Given the description of an element on the screen output the (x, y) to click on. 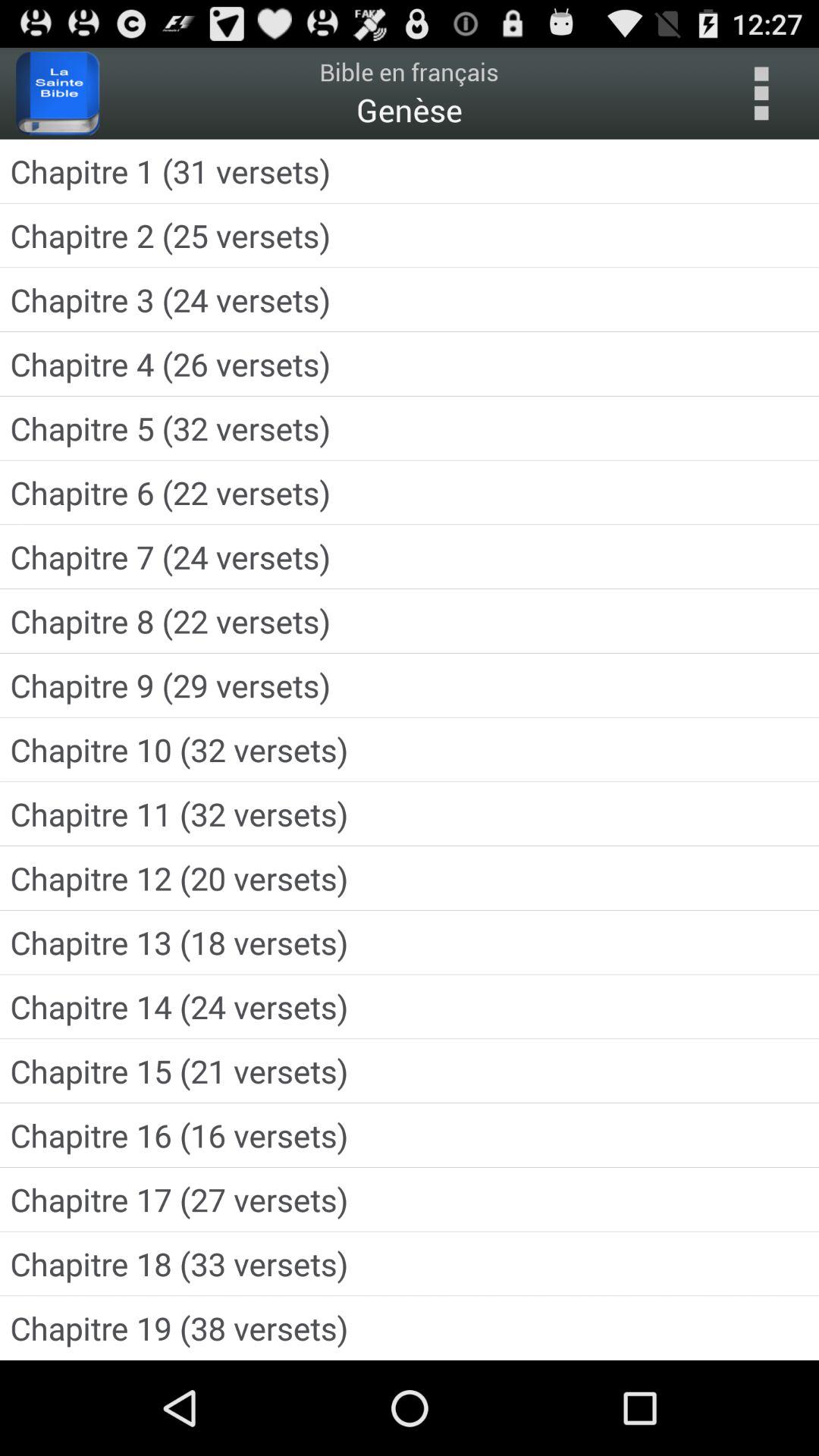
go back (761, 93)
